Given the description of an element on the screen output the (x, y) to click on. 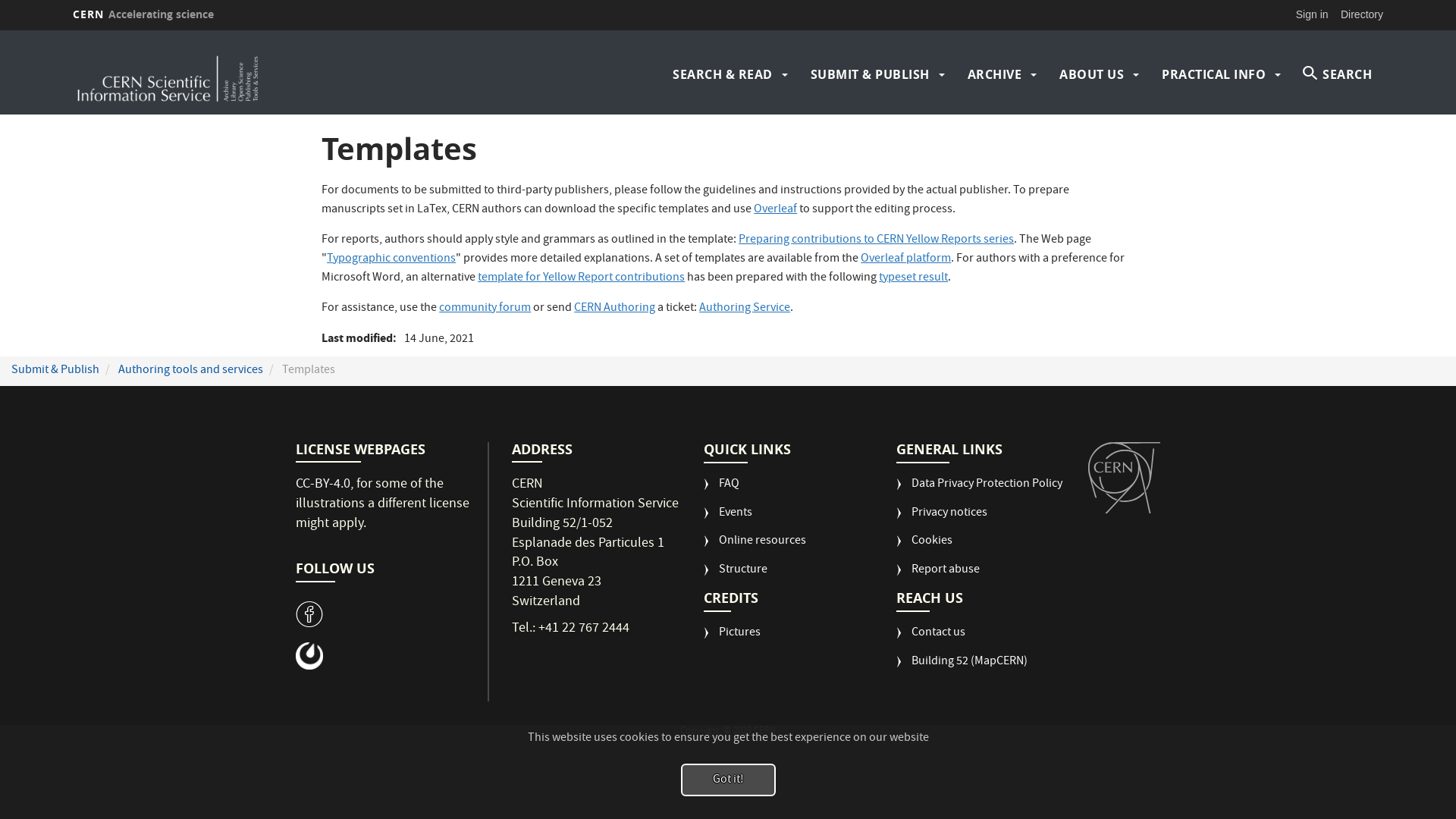
v Element type: text (309, 614)
FAQ Element type: text (721, 490)
Authoring tools and services Element type: text (190, 370)
Online resources Element type: text (754, 547)
template for Yellow Report contributions Element type: text (580, 278)
CERN Accelerating science Element type: text (142, 14)
Typographic conventions Element type: text (390, 259)
Privacy notices Element type: text (941, 519)
ABOUT US Element type: text (1091, 74)
Authoring Service Element type: text (744, 308)
Got it! Element type: text (727, 779)
typeset result Element type: text (912, 278)
CERN Authoring Element type: text (614, 308)
Skip to main content Element type: text (0, 30)
community forum Element type: text (484, 308)
Report abuse Element type: text (937, 575)
Home Element type: hover (232, 74)
Copyright Element type: text (700, 731)
Directory Element type: text (1361, 14)
SEARCH Element type: text (1337, 74)
CERN Element type: hover (1124, 477)
Overleaf platform Element type: text (905, 259)
Building 52 (MapCERN) Element type: text (961, 667)
ARCHIVE Element type: text (994, 74)
Sign in Element type: text (1311, 14)
Submit & Publish Element type: text (55, 370)
Preparing contributions to CERN Yellow Reports series Element type: text (875, 240)
Pictures Element type: text (731, 638)
SUBMIT & PUBLISH Element type: text (868, 74)
SEARCH & READ Element type: text (722, 74)
CC-BY-4.0 Element type: text (322, 484)
Data Privacy Protection Policy Element type: text (979, 490)
Structure Element type: text (735, 575)
Overleaf Element type: text (775, 209)
Contact us Element type: text (930, 638)
PRACTICAL INFO Element type: text (1213, 74)
Cookies Element type: text (924, 547)
Events Element type: text (727, 519)
